Given the description of an element on the screen output the (x, y) to click on. 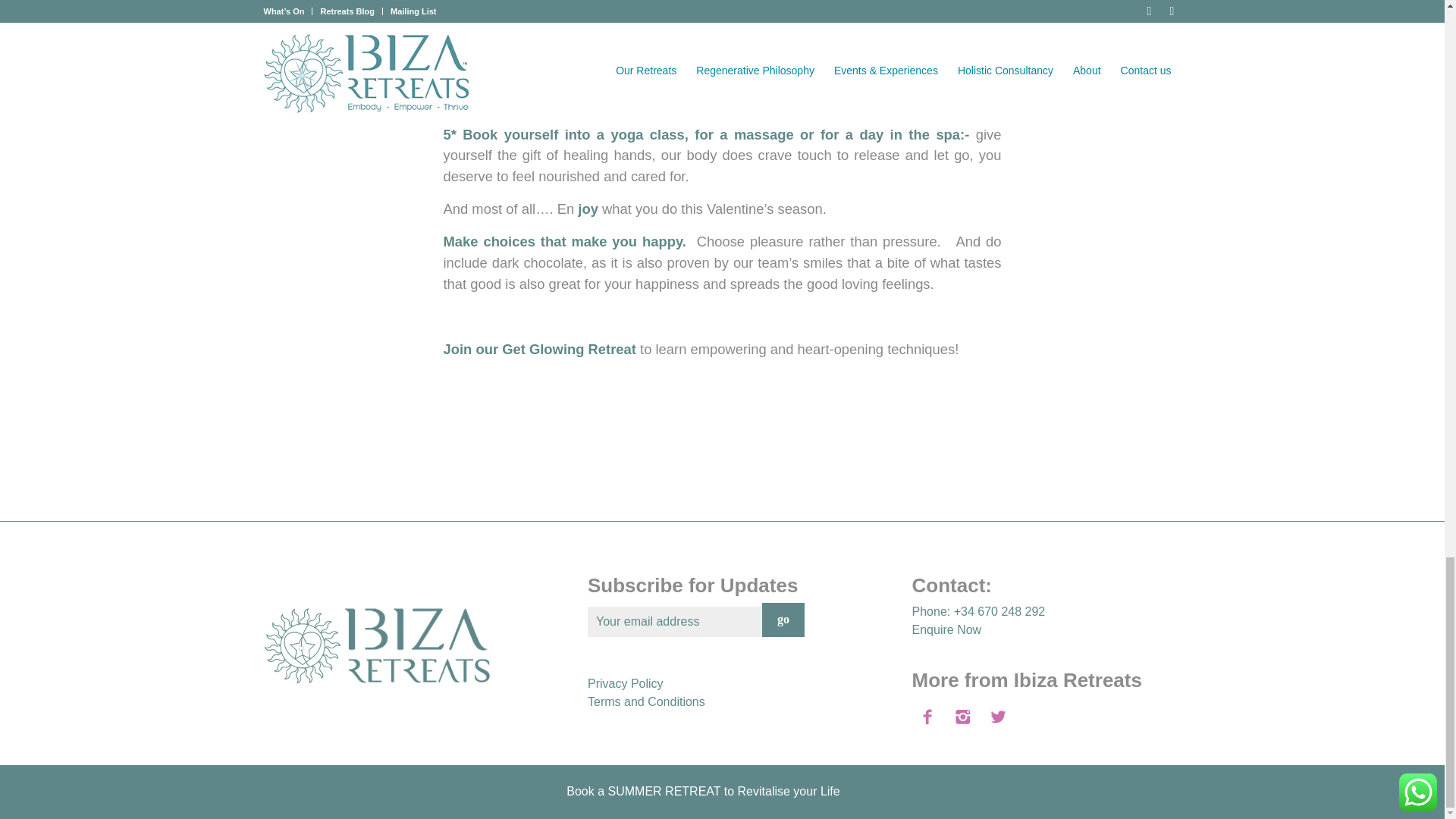
Terms and Conditions (646, 701)
Enquire Now (946, 629)
Get Glowing Yoga and Energy Retreats in Ibiza (569, 349)
Privacy Policy (625, 683)
Facebook (1146, 796)
Get Glowing Retreat (569, 349)
go (783, 619)
go (783, 619)
Instagram (1169, 796)
